Given the description of an element on the screen output the (x, y) to click on. 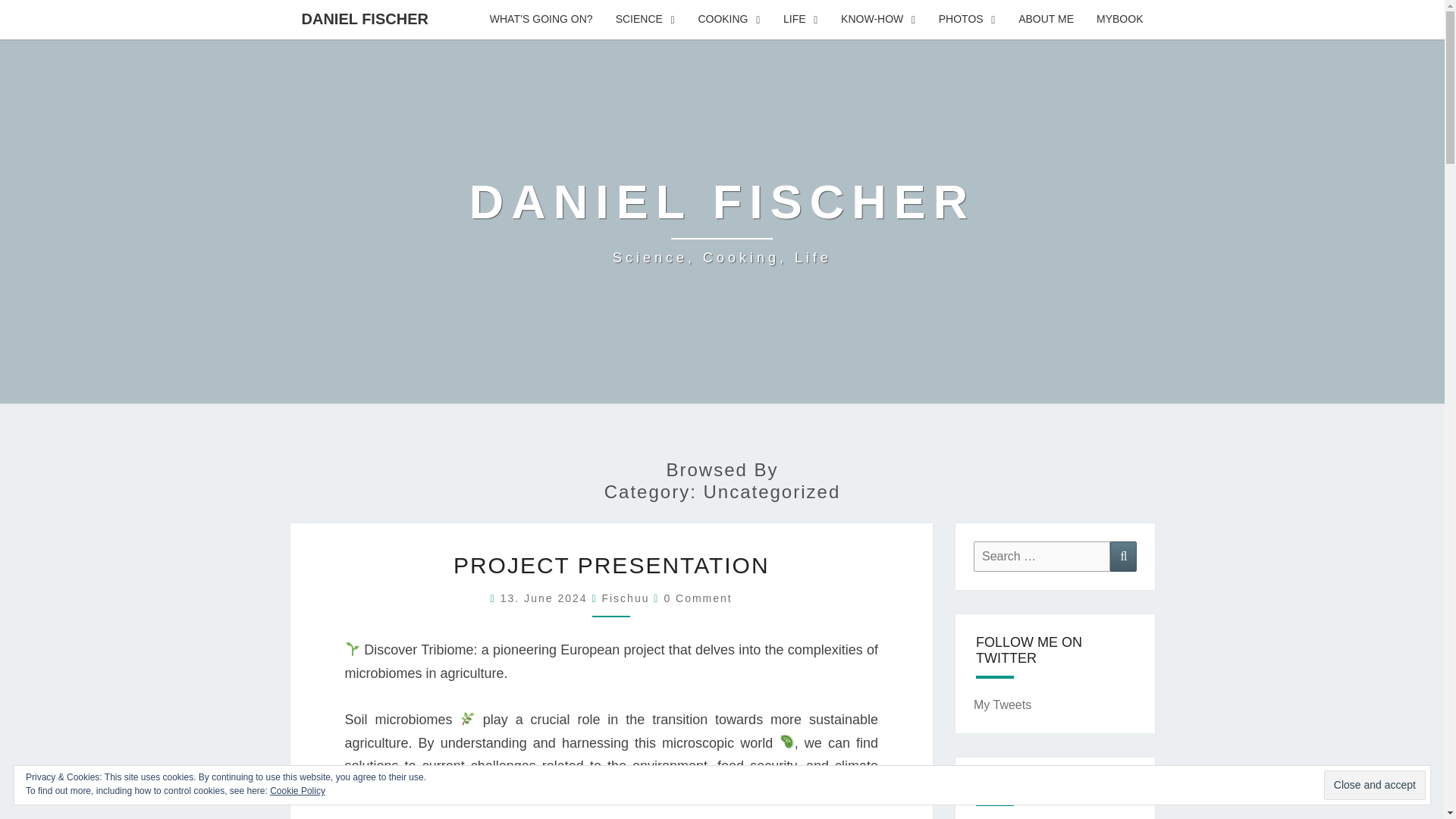
Close and accept (1374, 785)
Daniel Fischer (721, 221)
Search for: (1041, 555)
LIFE (800, 19)
DANIEL FISCHER (364, 18)
21:55 (546, 598)
COOKING (728, 19)
KNOW-HOW (878, 19)
SCIENCE (645, 19)
View all posts by fischuu (625, 598)
